Given the description of an element on the screen output the (x, y) to click on. 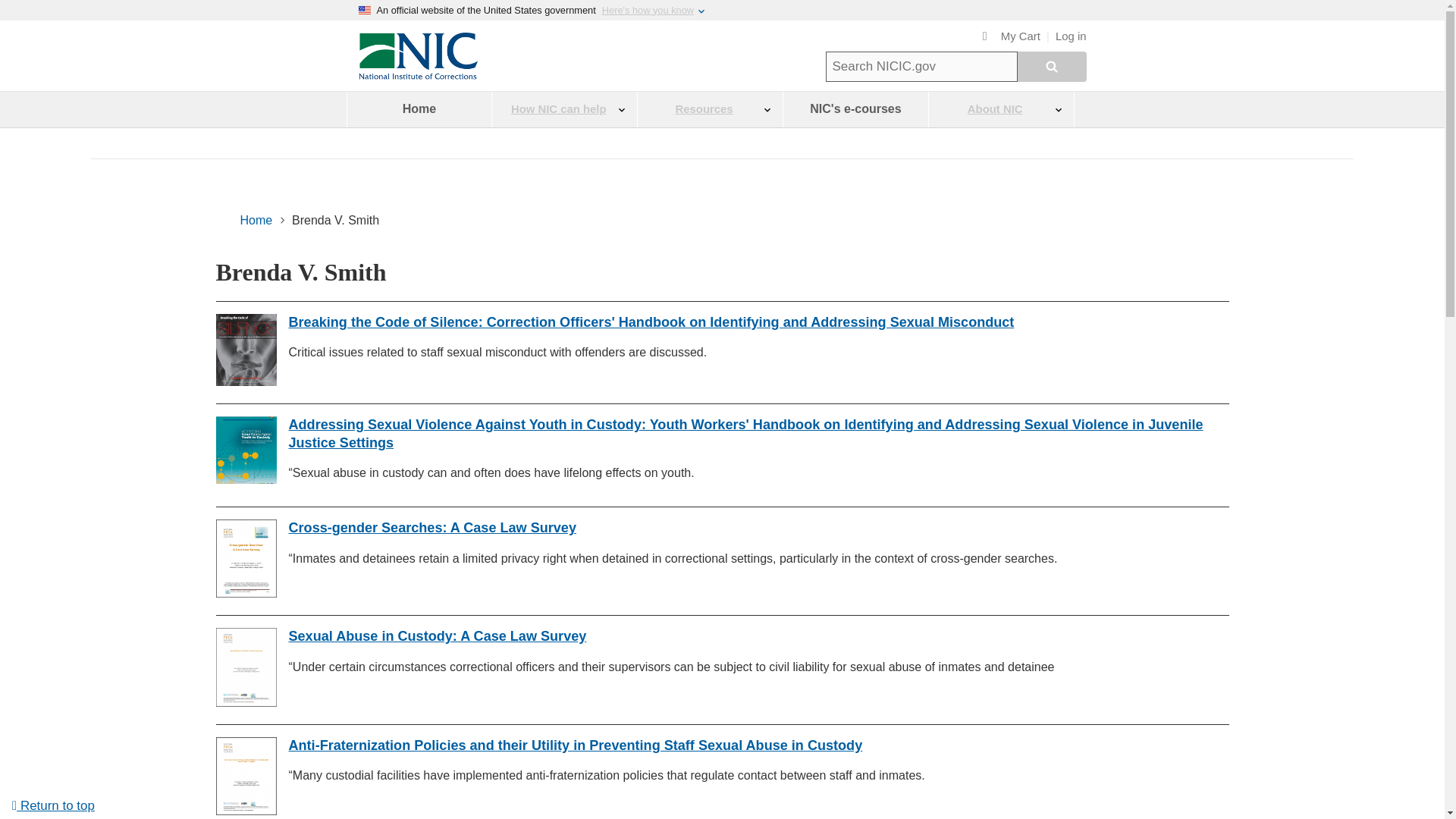
Cross-gender Searches: A Case Law Survey (431, 527)
My Cart (1011, 36)
Home (419, 108)
Sexual Abuse in Custody: A Case Law Survey (437, 635)
search all NIC websites (1051, 66)
NIC's e-courses (854, 108)
Return to top (52, 805)
Here's how you know (648, 9)
